Given the description of an element on the screen output the (x, y) to click on. 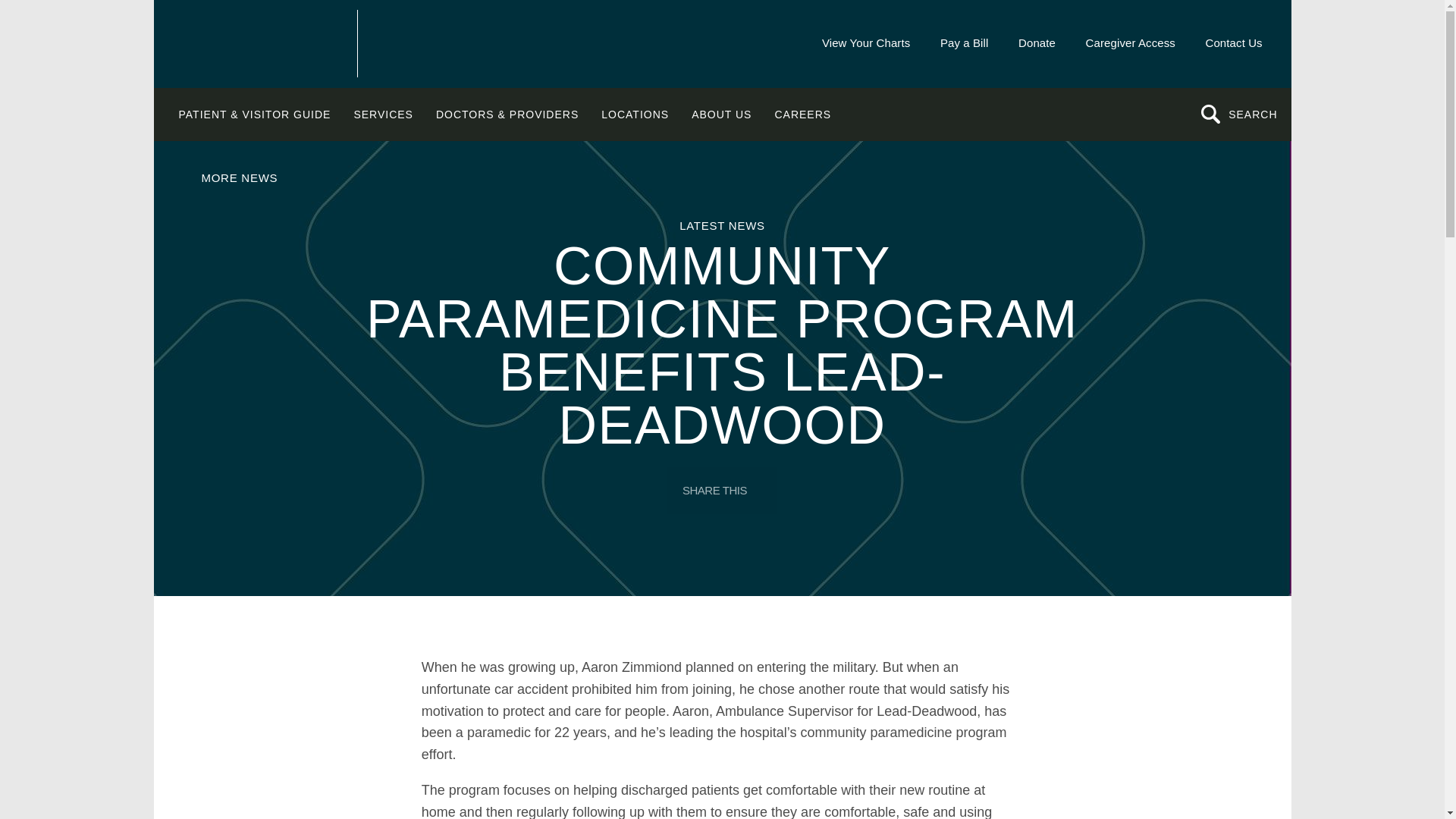
Donate (1036, 42)
Caregiver Access (1130, 42)
Pay a Bill (963, 42)
SERVICES (383, 113)
LOCATIONS (634, 113)
Search (1250, 114)
View Your Charts (865, 42)
Mayo Clinic Care Network (461, 43)
Search (1250, 114)
Monument Health (264, 42)
